Given the description of an element on the screen output the (x, y) to click on. 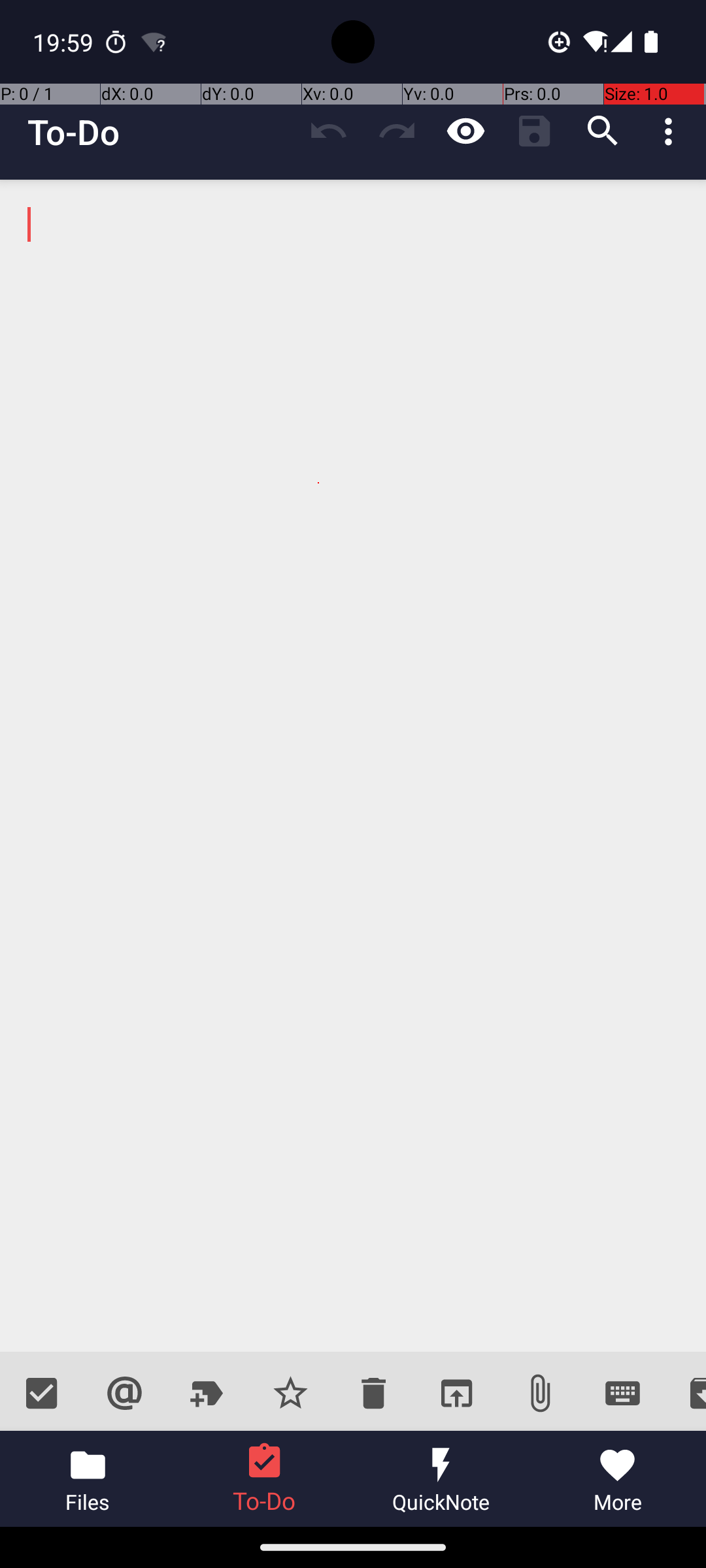
19:59 Element type: android.widget.TextView (64, 41)
